Given the description of an element on the screen output the (x, y) to click on. 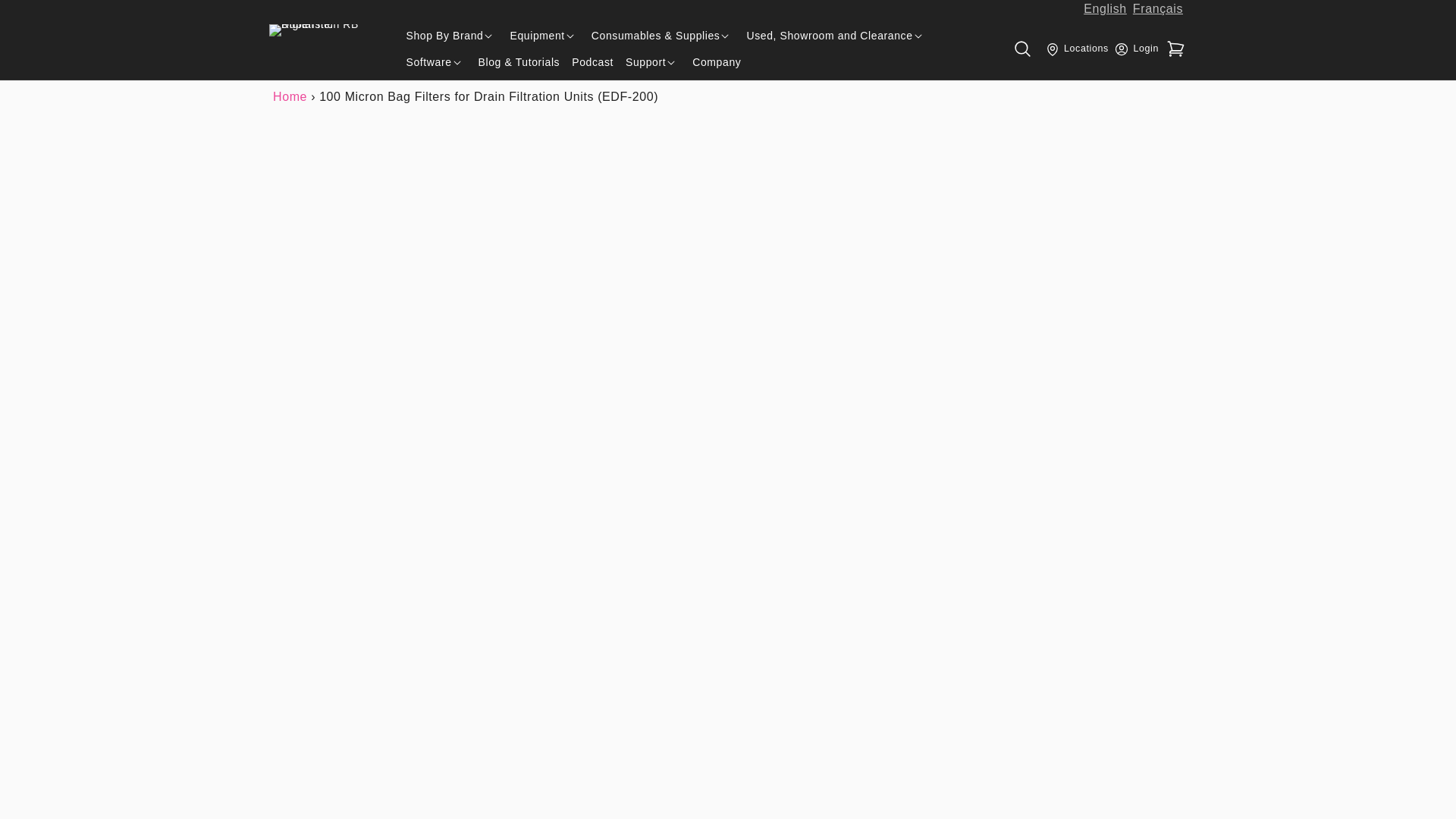
Home (290, 96)
English (1104, 9)
English (1104, 9)
Skip to content (48, 15)
